Given the description of an element on the screen output the (x, y) to click on. 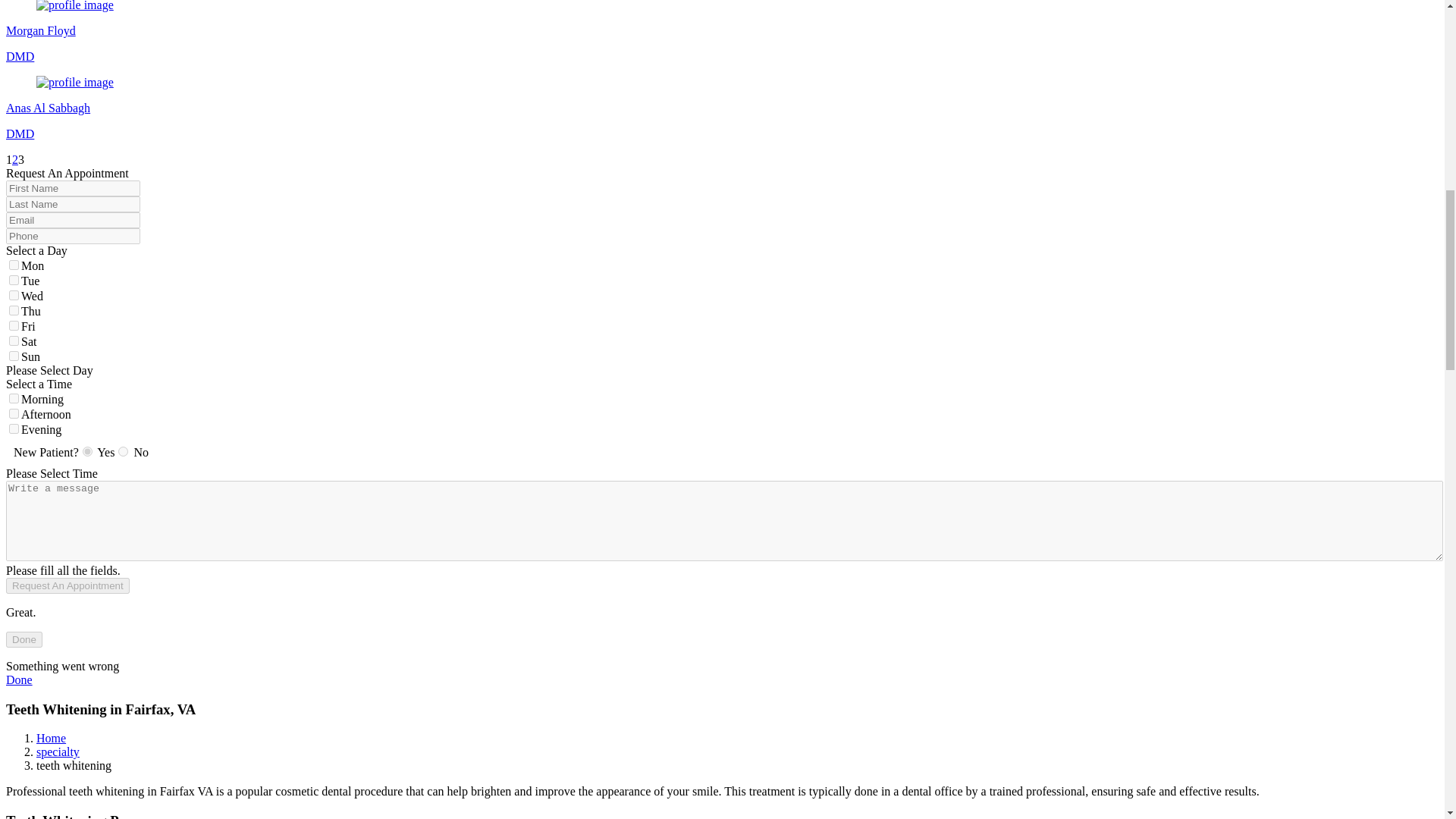
Wednesday (13, 295)
Morning (13, 398)
Friday (13, 325)
Existing Patient (122, 451)
Monday (13, 265)
profile image (74, 82)
Saturday (13, 340)
Thursday (13, 310)
Tuesday (13, 280)
New Patient (87, 451)
Sunday (13, 356)
profile image (74, 6)
Afternoon (13, 413)
Evening (13, 429)
